Given the description of an element on the screen output the (x, y) to click on. 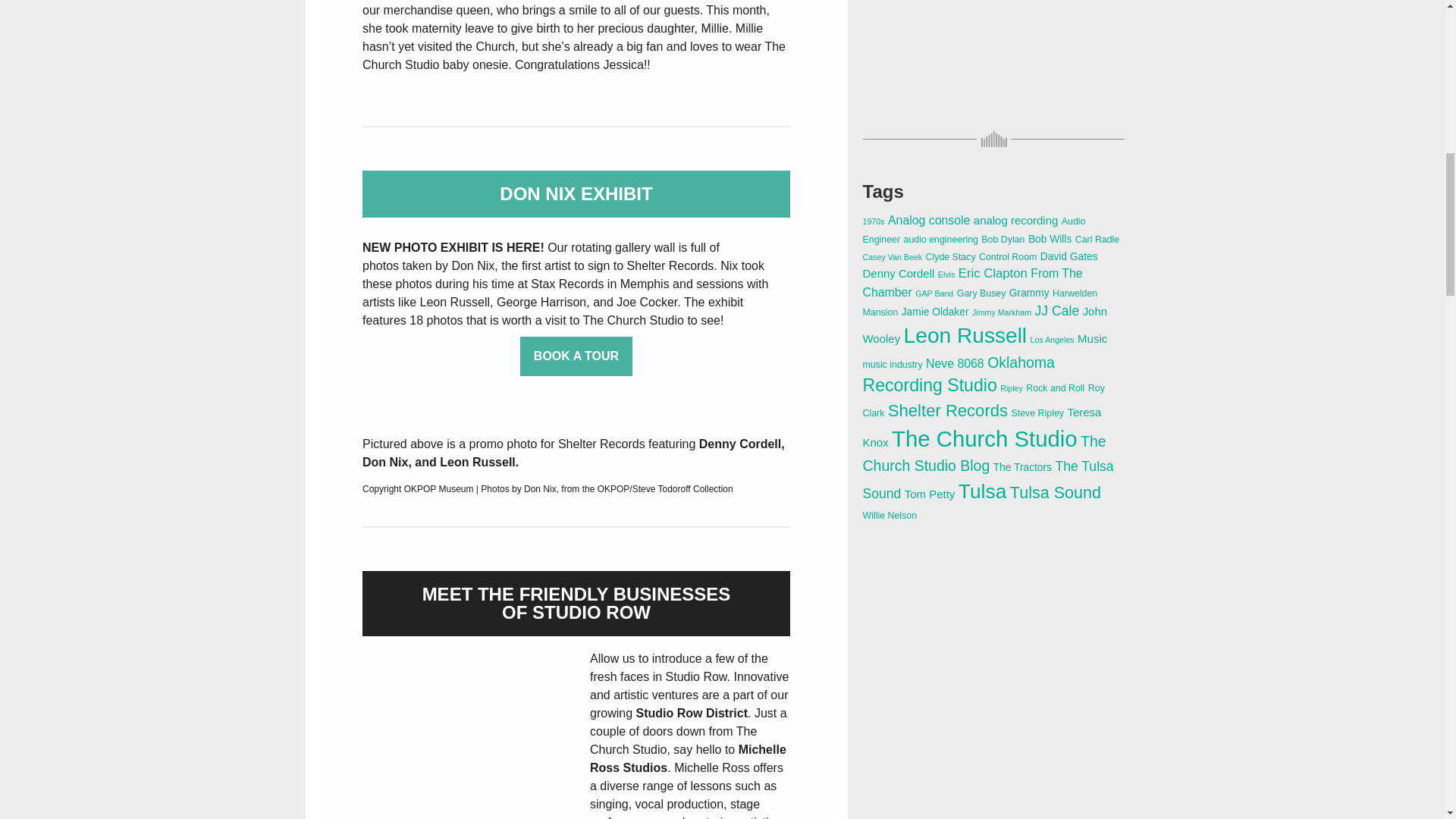
BOOK A TOUR (576, 356)
